Given the description of an element on the screen output the (x, y) to click on. 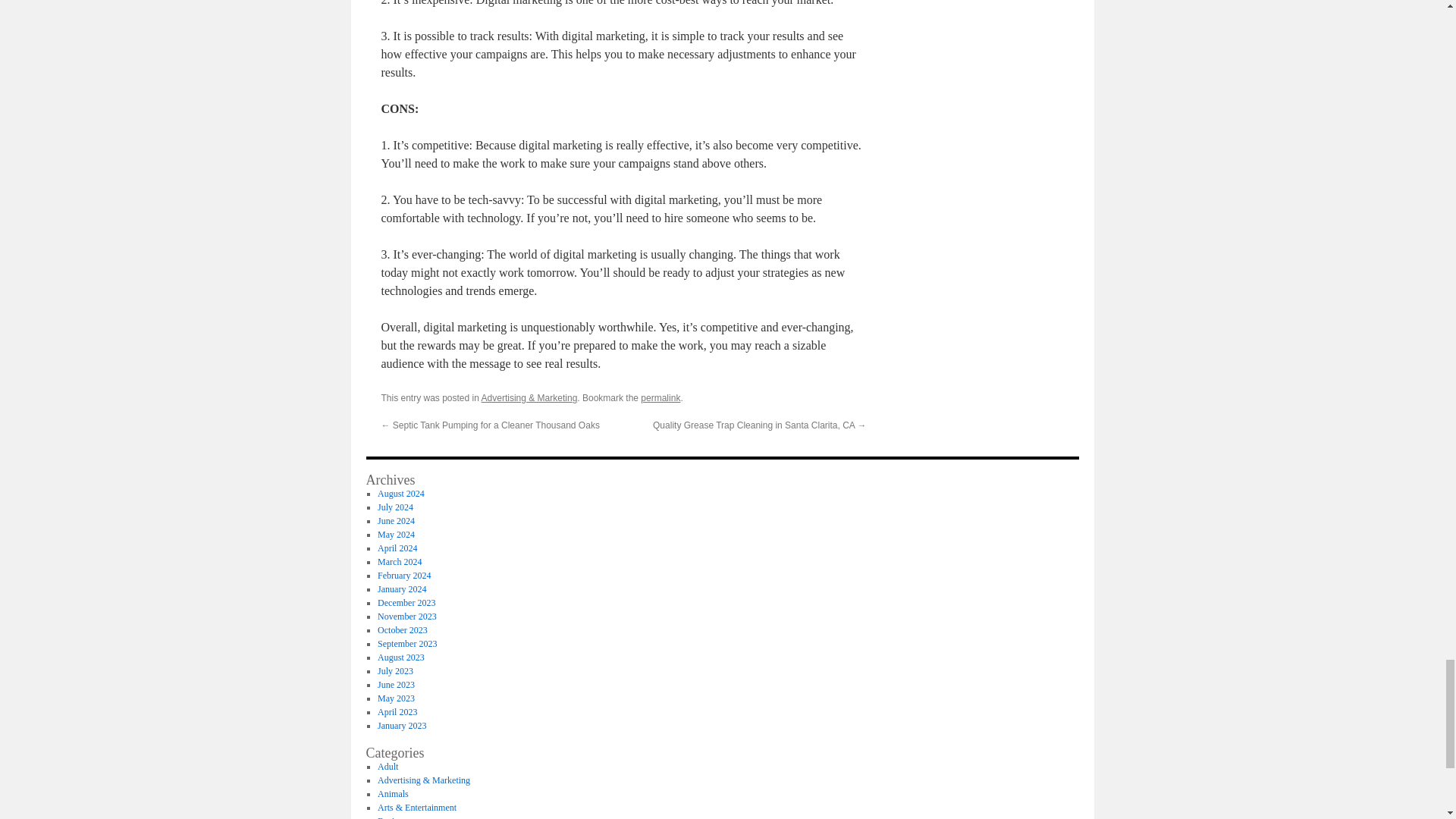
February 2024 (403, 575)
May 2023 (395, 697)
April 2023 (396, 711)
August 2024 (401, 493)
July 2023 (395, 670)
September 2023 (406, 643)
August 2023 (401, 656)
December 2023 (406, 602)
June 2024 (395, 520)
November 2023 (406, 615)
